Given the description of an element on the screen output the (x, y) to click on. 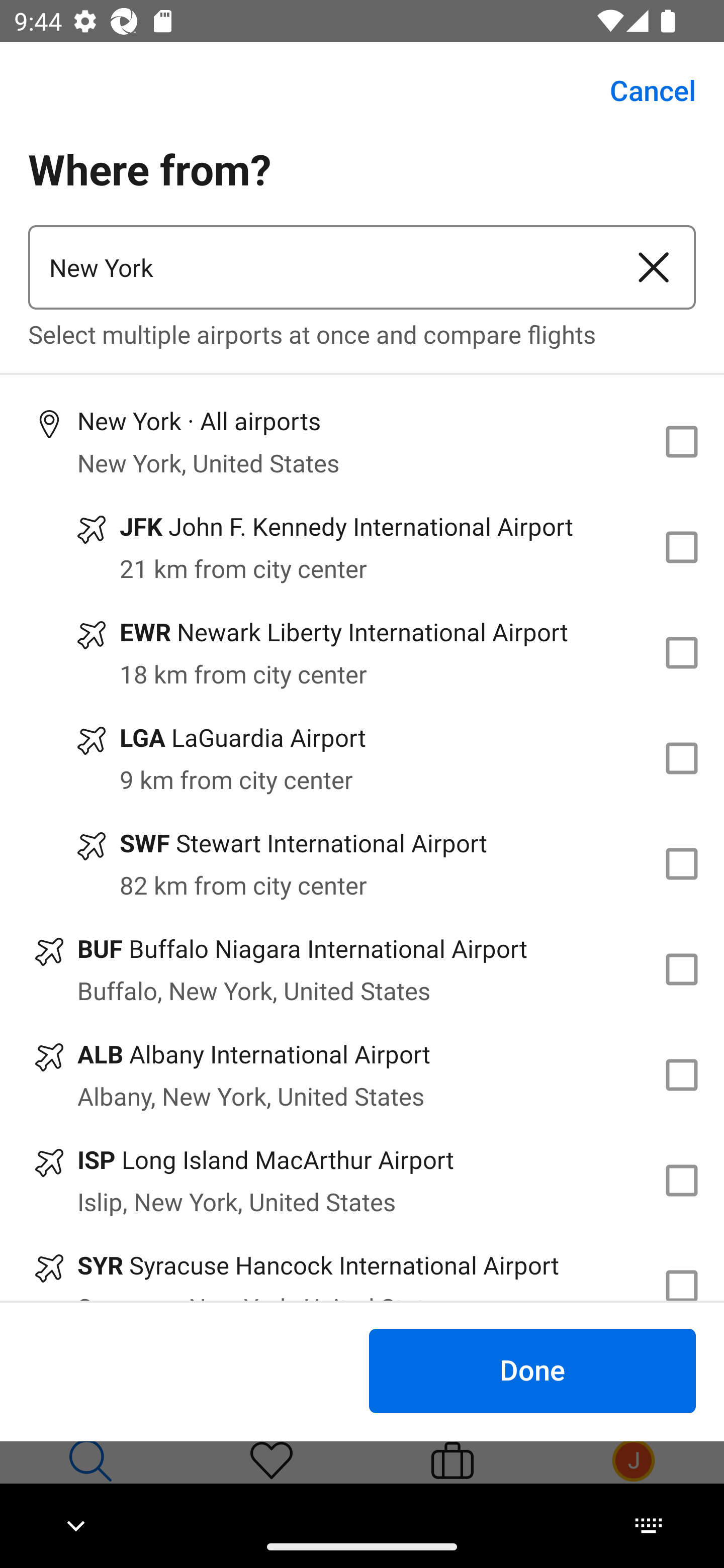
Cancel (641, 90)
New York (319, 266)
Clear airport or city (653, 266)
New York · All airports New York, United States (362, 440)
LGA LaGuardia Airport 9 km from city center (362, 757)
Done (532, 1370)
